Given the description of an element on the screen output the (x, y) to click on. 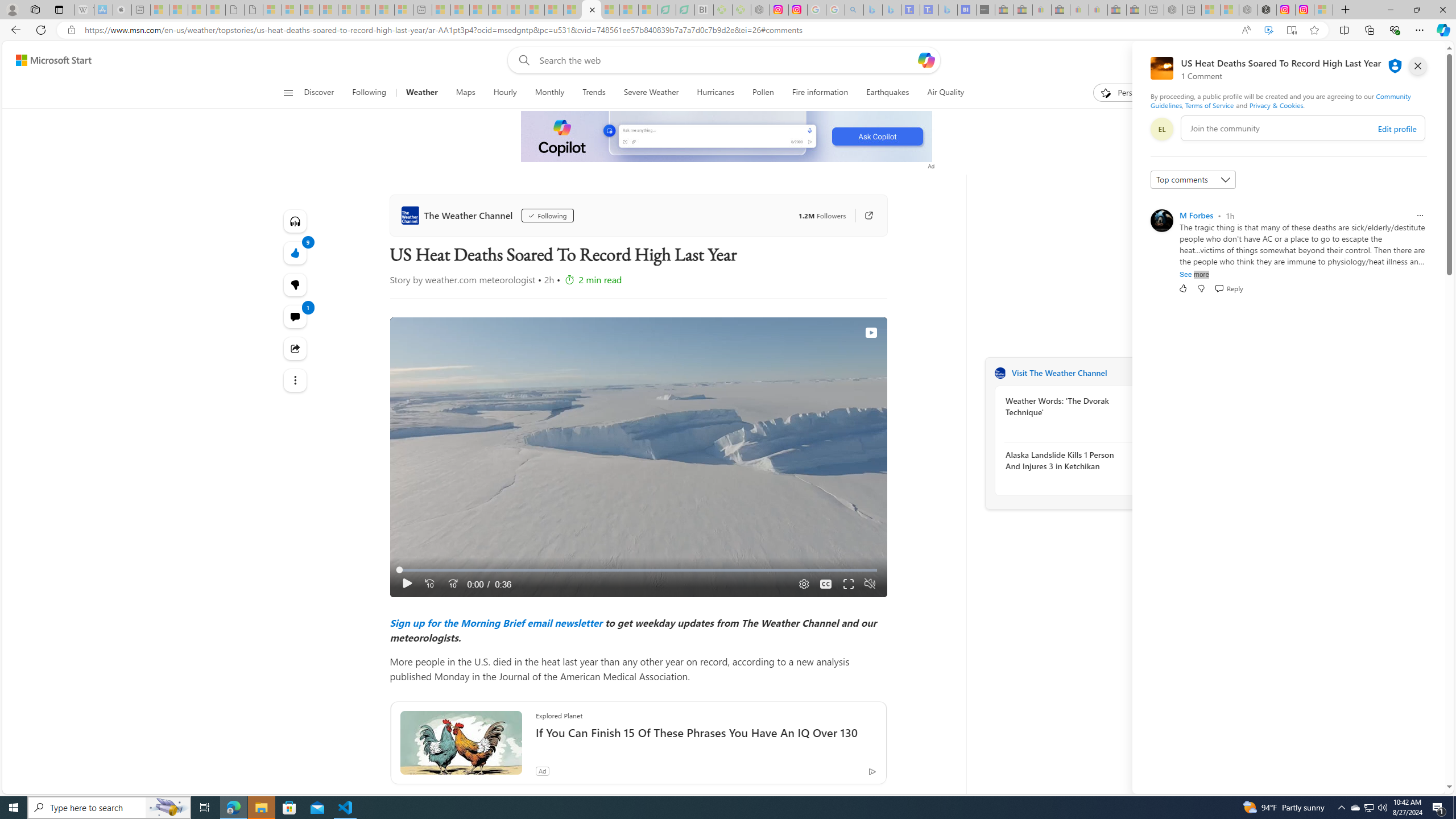
9 (295, 284)
Microsoft account | Account Checkup - Sleeping (403, 9)
Ad Choice (871, 770)
Air Quality (945, 92)
Press Room - eBay Inc. - Sleeping (1116, 9)
